Given the description of an element on the screen output the (x, y) to click on. 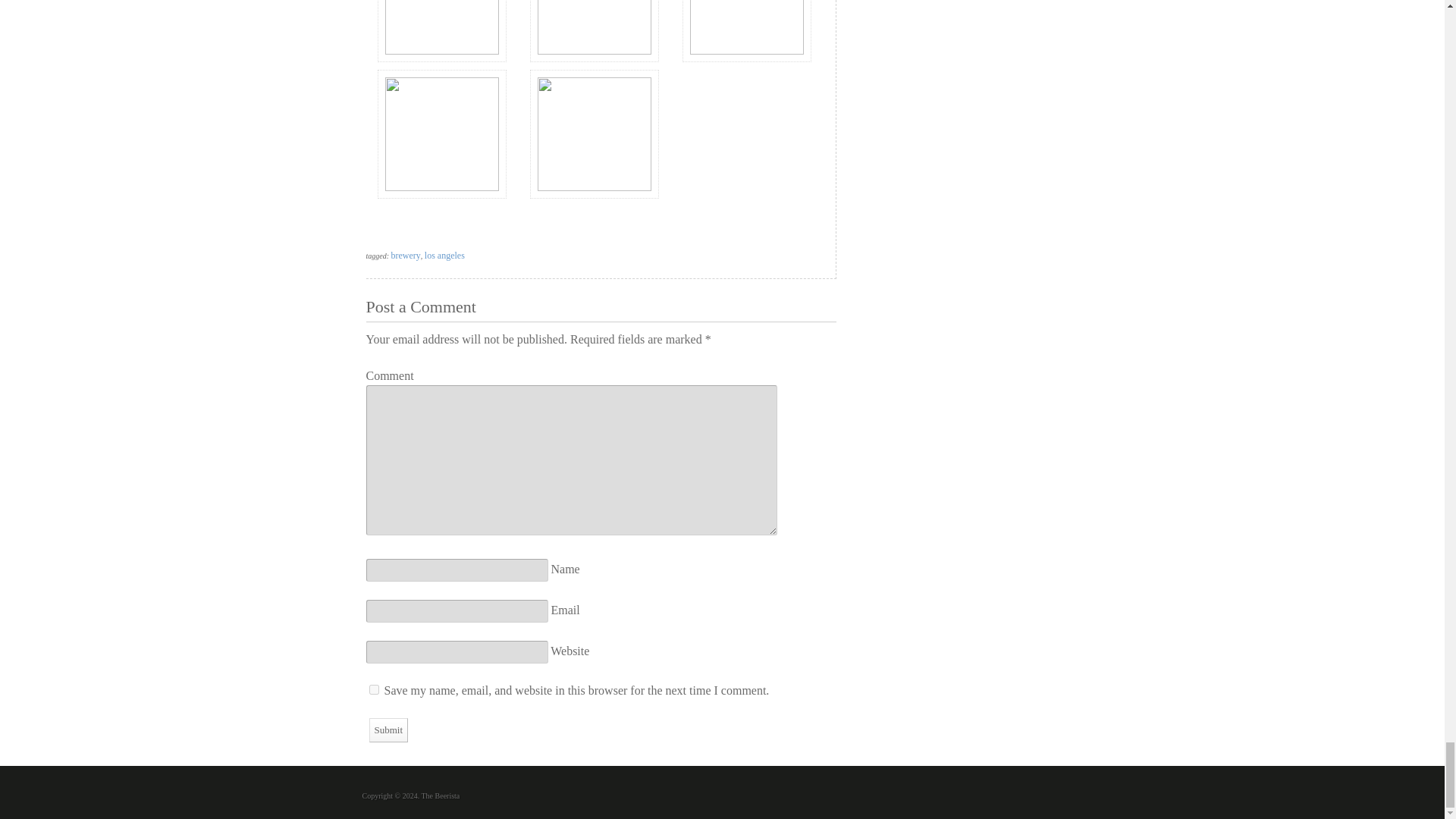
Submit (387, 730)
yes (373, 689)
